Given the description of an element on the screen output the (x, y) to click on. 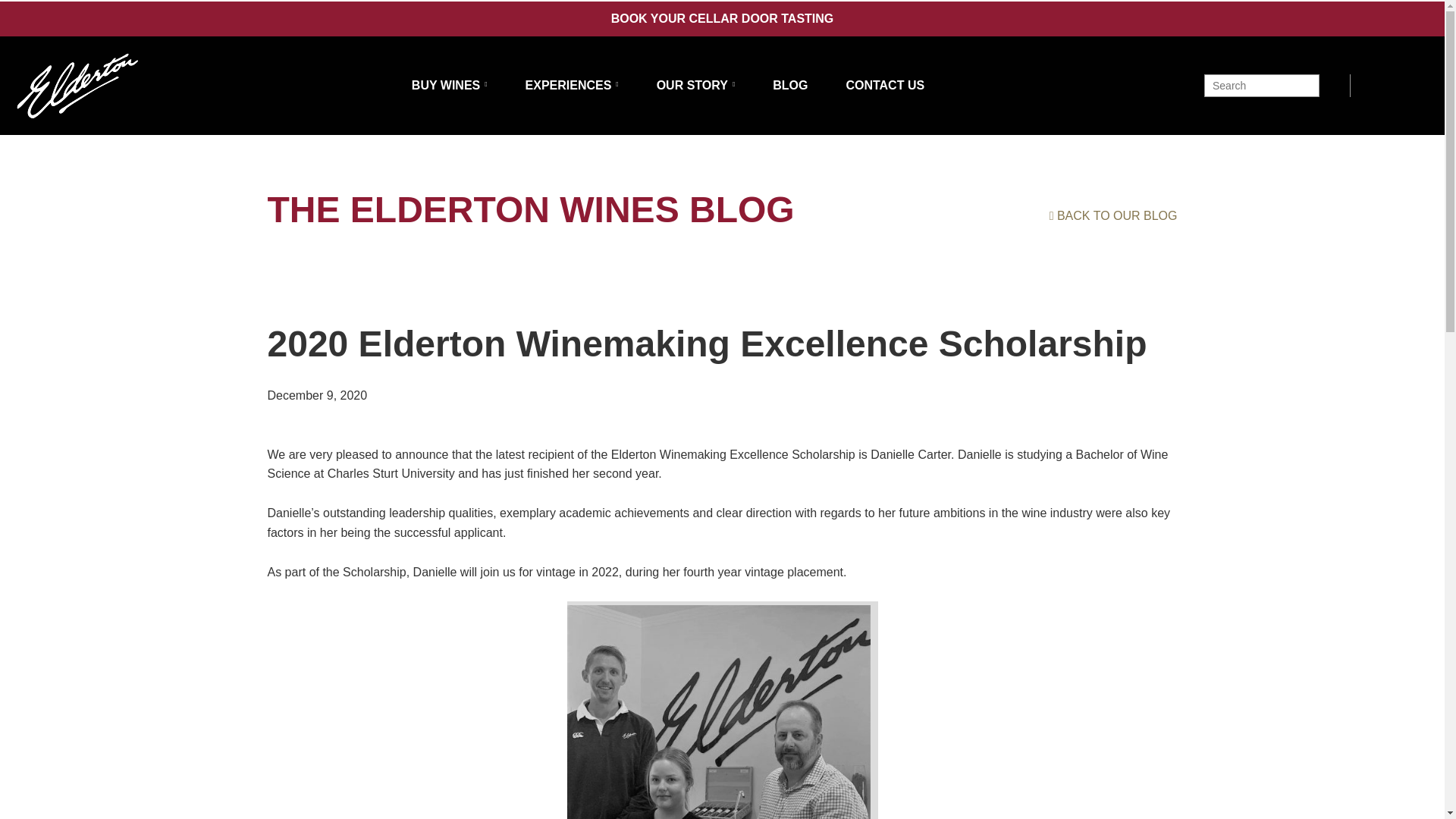
OUR STORY (695, 84)
CONTACT US (884, 84)
View your shopping cart (1374, 84)
BUY WINES (449, 84)
BLOG (790, 84)
EXPERIENCES (571, 84)
BOOK YOUR CELLAR DOOR TASTING (722, 18)
